Given the description of an element on the screen output the (x, y) to click on. 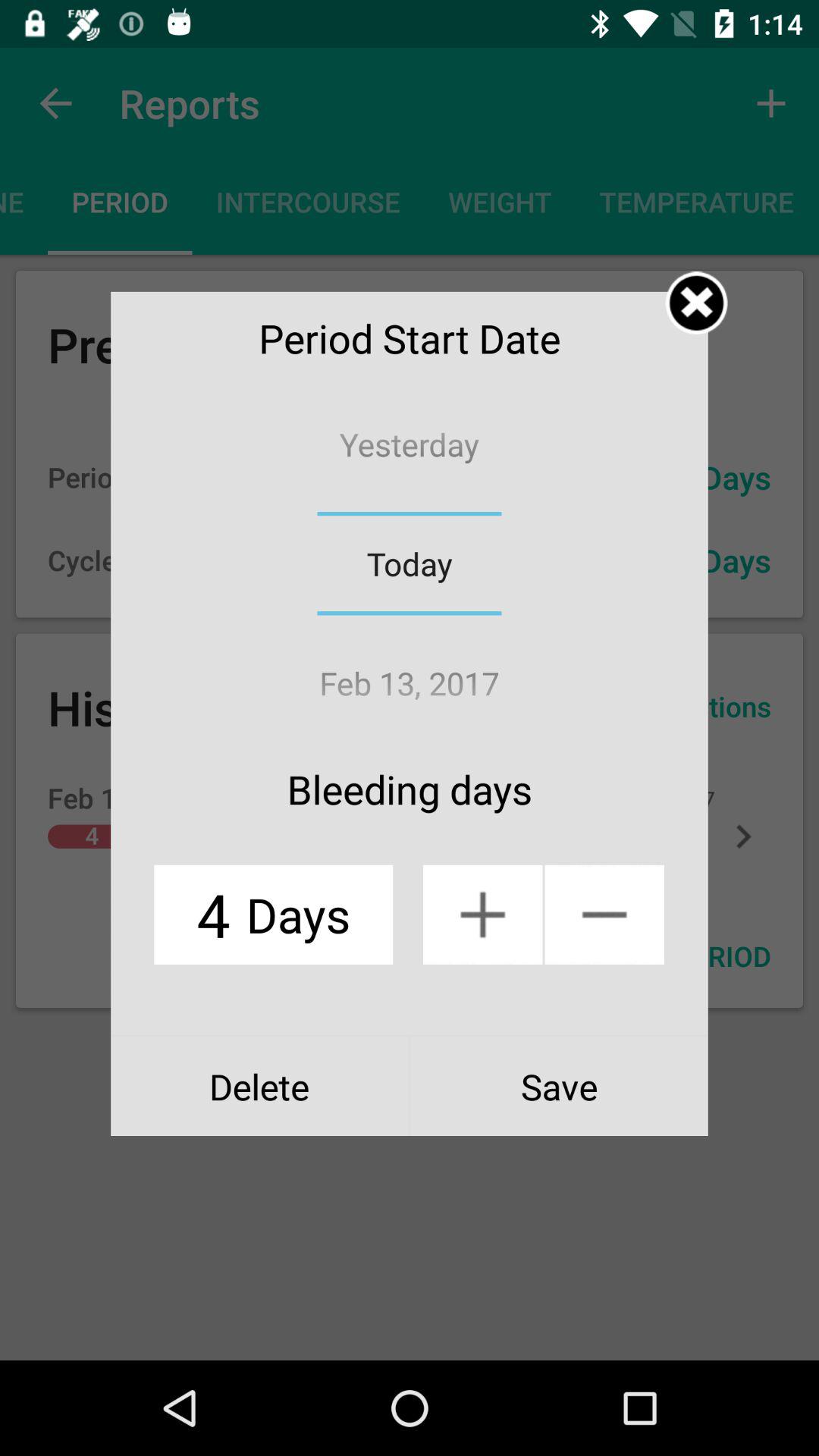
add one day (482, 914)
